Given the description of an element on the screen output the (x, y) to click on. 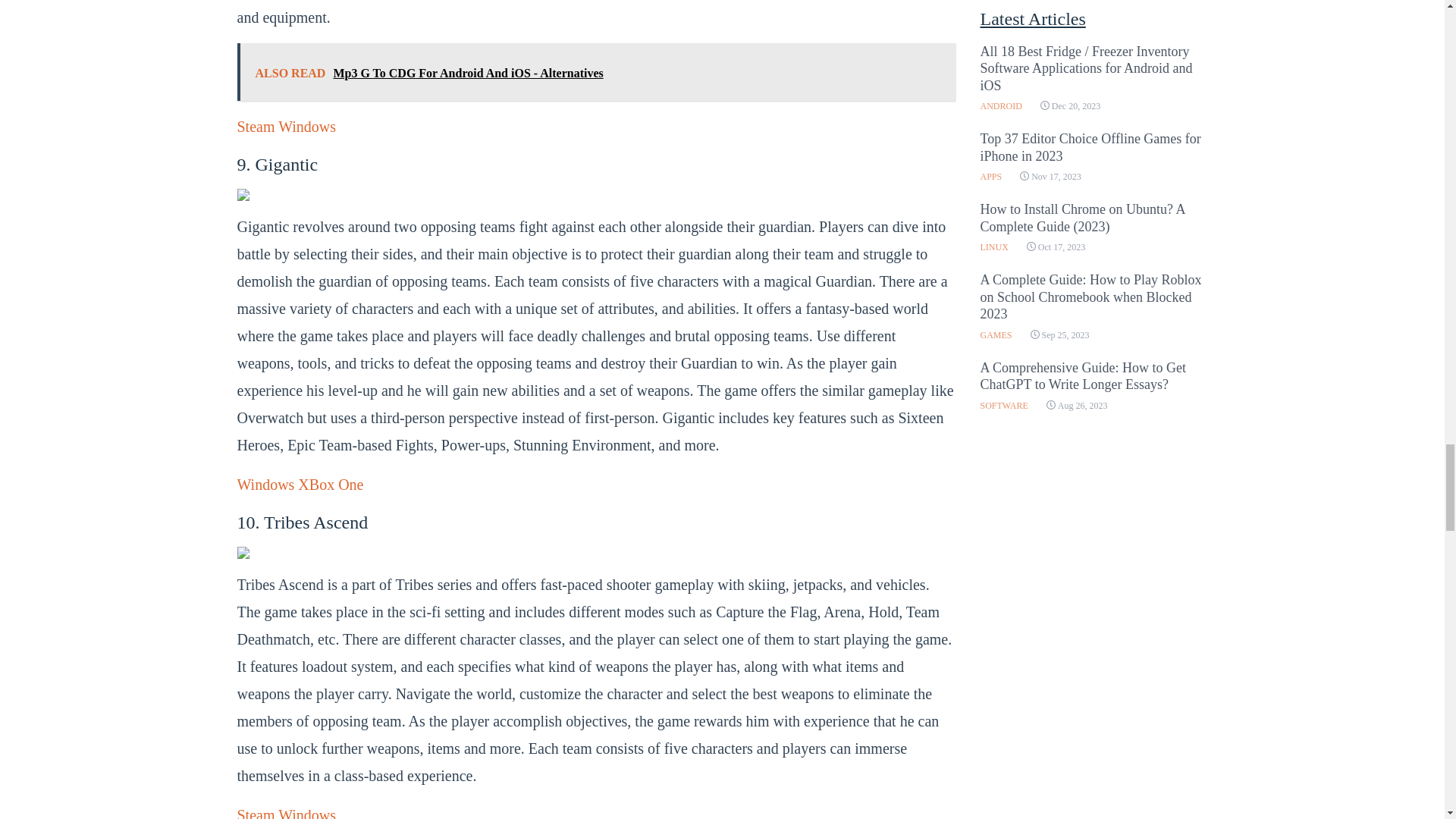
Windows (264, 484)
XBox One (330, 484)
Steam (255, 126)
ALSO READ  Mp3 G To CDG For Android And iOS - Alternatives (595, 71)
Windows (307, 126)
